Given the description of an element on the screen output the (x, y) to click on. 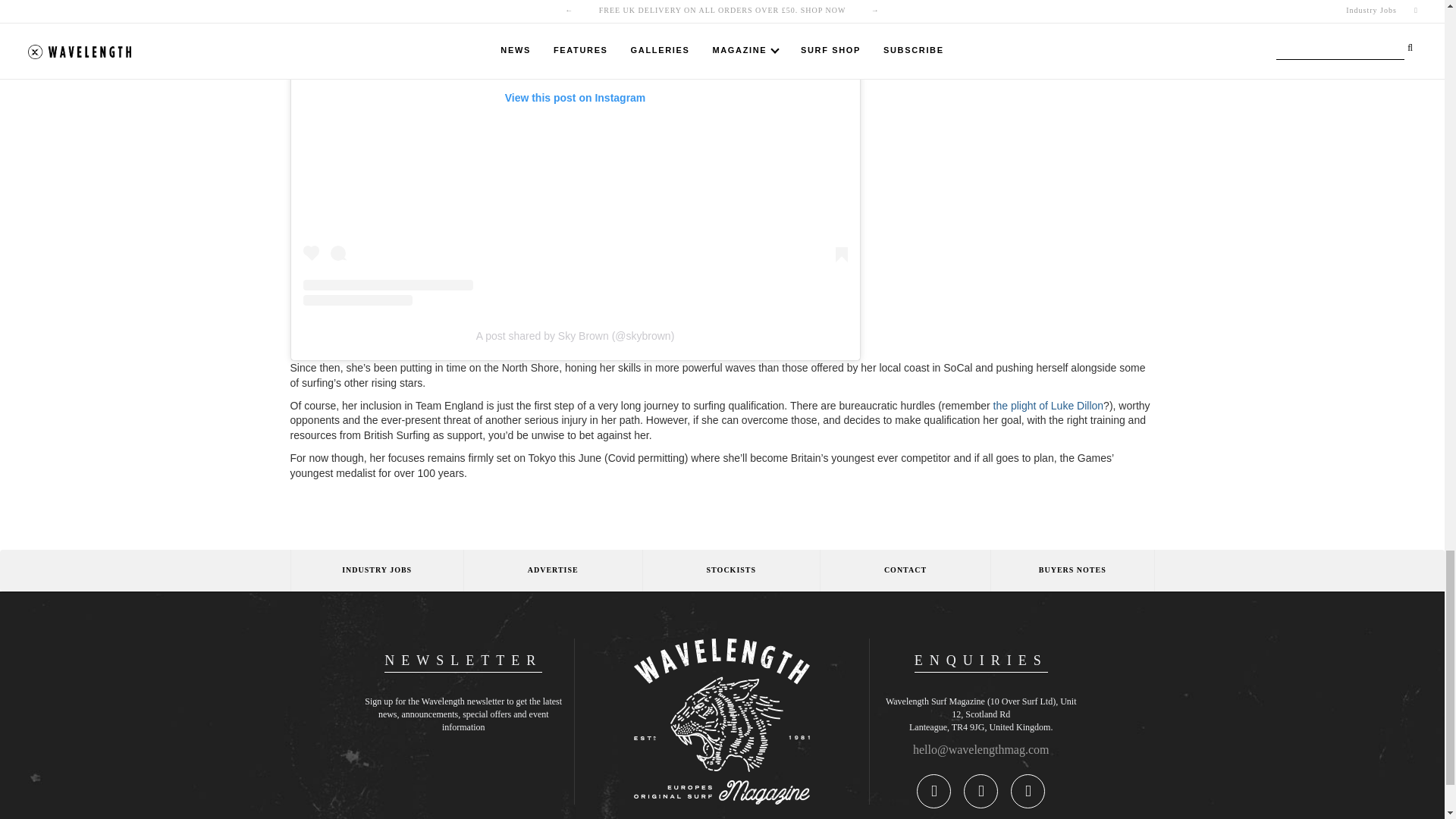
Stockists (730, 569)
ADVERTISE (552, 569)
Contact (904, 569)
the plight of Luke Dillon (1047, 405)
Industry Jobs (376, 569)
STOCKISTS (730, 569)
Advertise (552, 569)
INDUSTRY JOBS (376, 569)
Buyers Notes (1072, 569)
BUYERS NOTES (1072, 569)
CONTACT (904, 569)
